Given the description of an element on the screen output the (x, y) to click on. 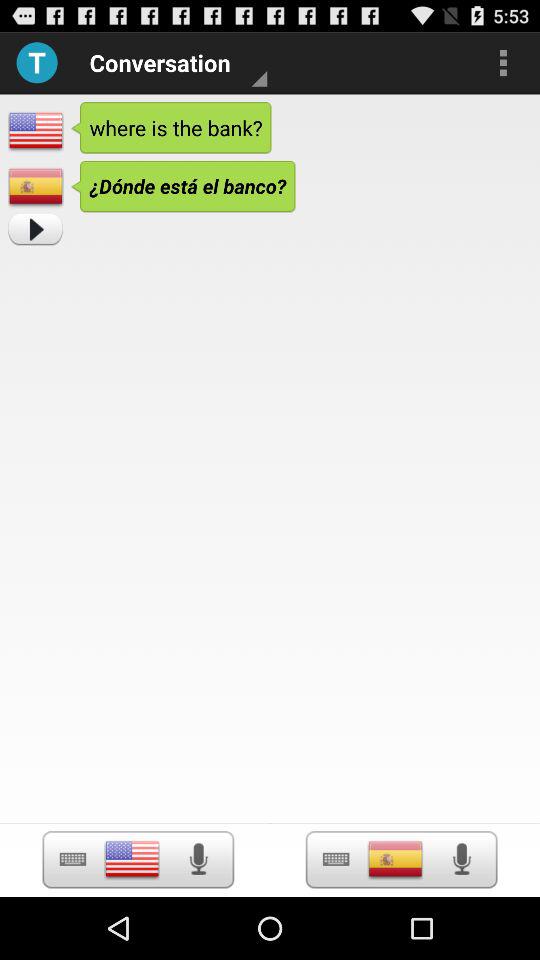
language selection option (131, 859)
